Given the description of an element on the screen output the (x, y) to click on. 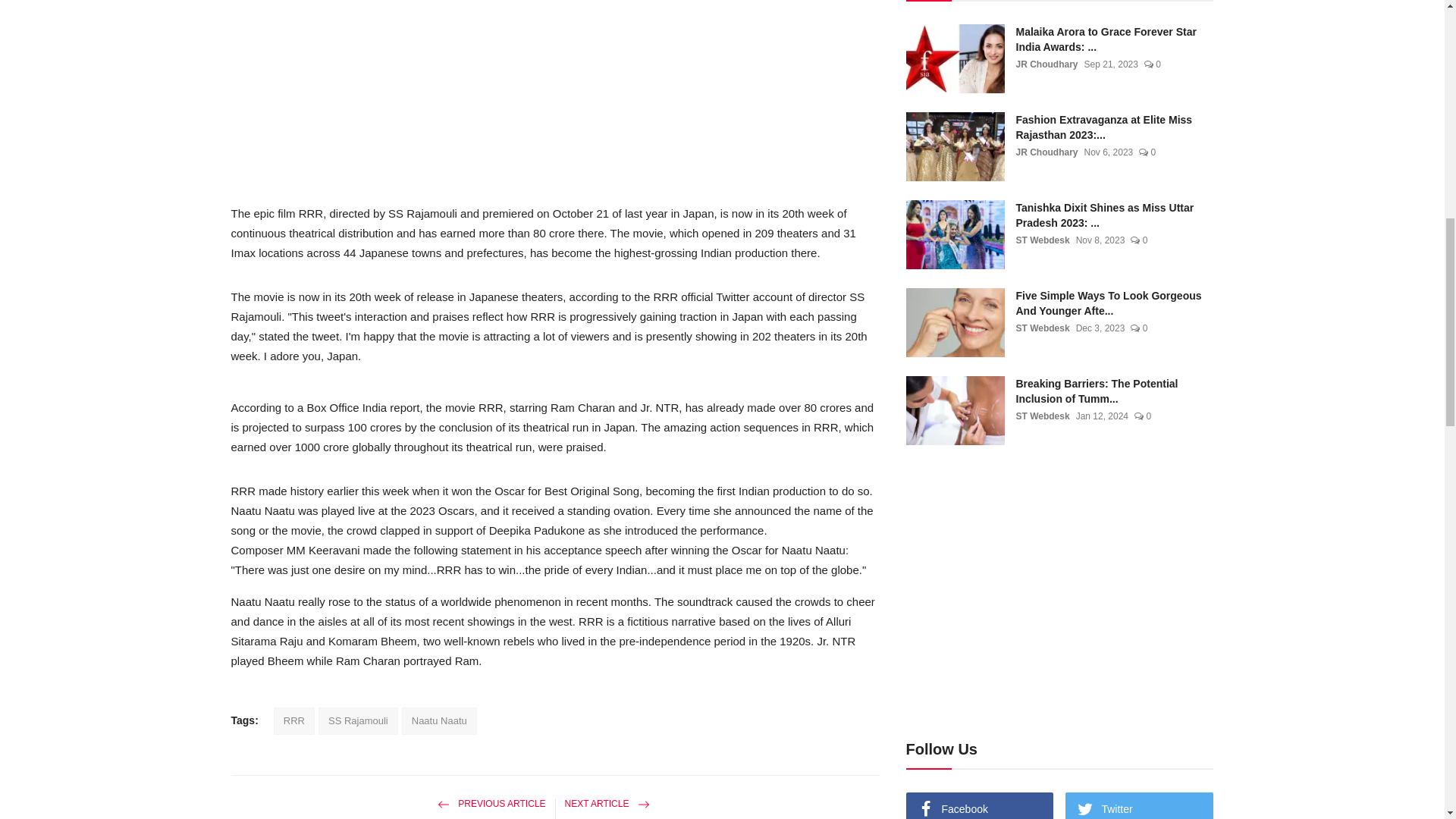
Advertisement (555, 92)
Advertisement (1032, 24)
